Given the description of an element on the screen output the (x, y) to click on. 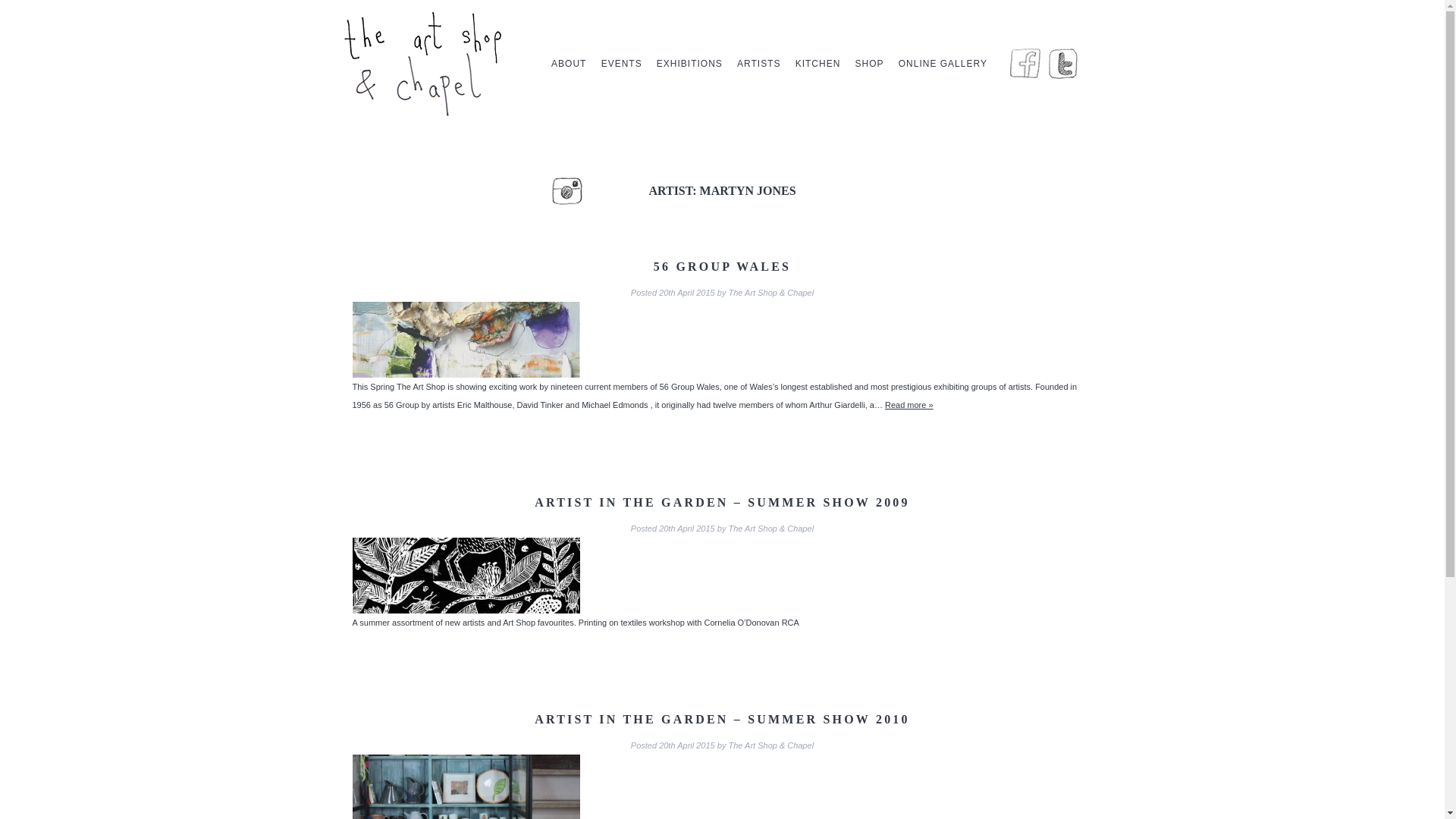
ABOUT (569, 63)
ONLINE GALLERY (942, 63)
Read 56 Group Wales (909, 404)
EVENTS (621, 63)
56 Group Wales (721, 266)
56 GROUP WALES (721, 266)
EXHIBITIONS (689, 63)
KITCHEN (817, 63)
SHOP (869, 63)
ARTISTS (758, 63)
